Given the description of an element on the screen output the (x, y) to click on. 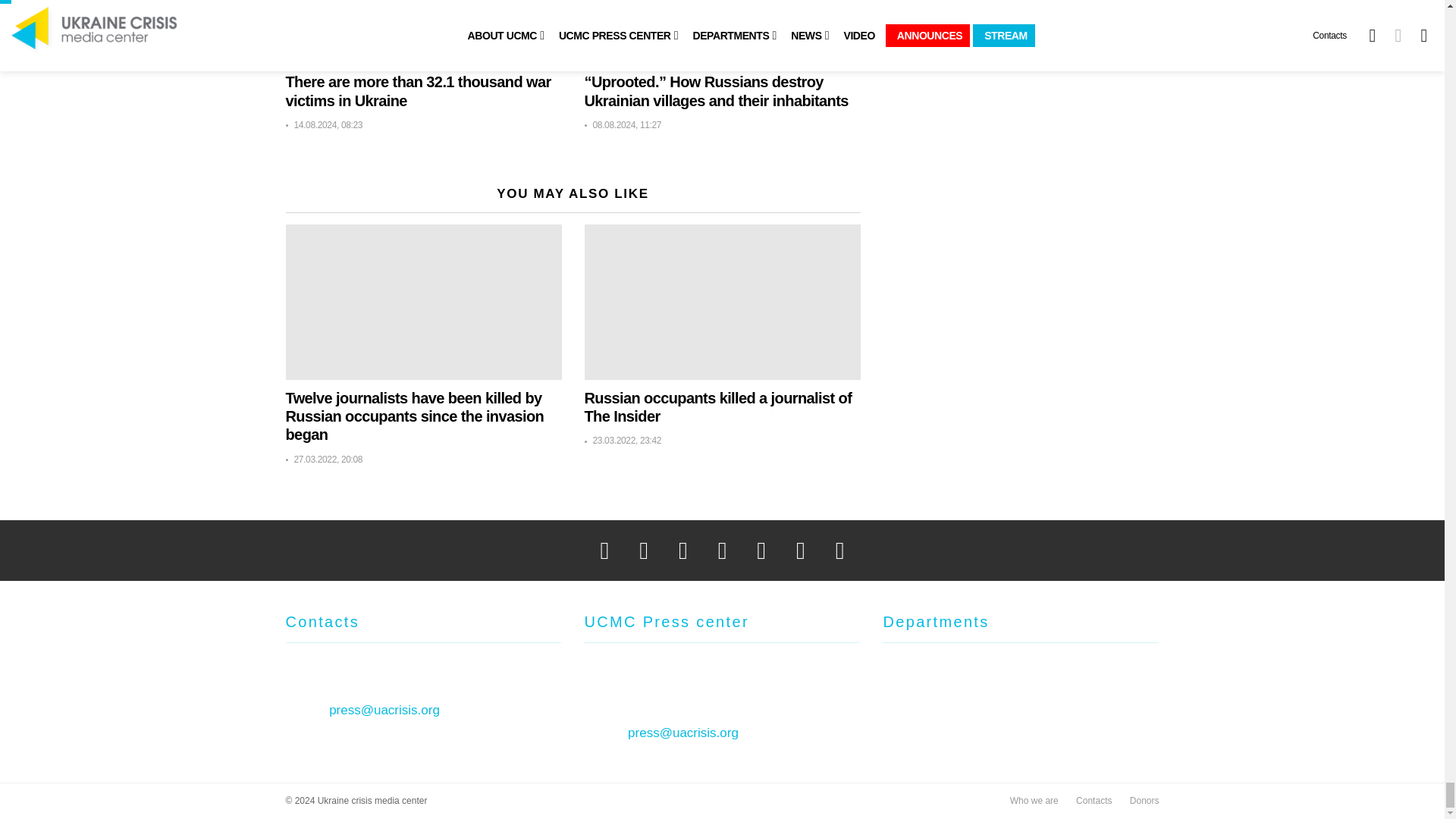
Russian occupants killed a journalist of The Insider (721, 302)
There are more than 32.1 thousand war victims in Ukraine (422, 31)
